Given the description of an element on the screen output the (x, y) to click on. 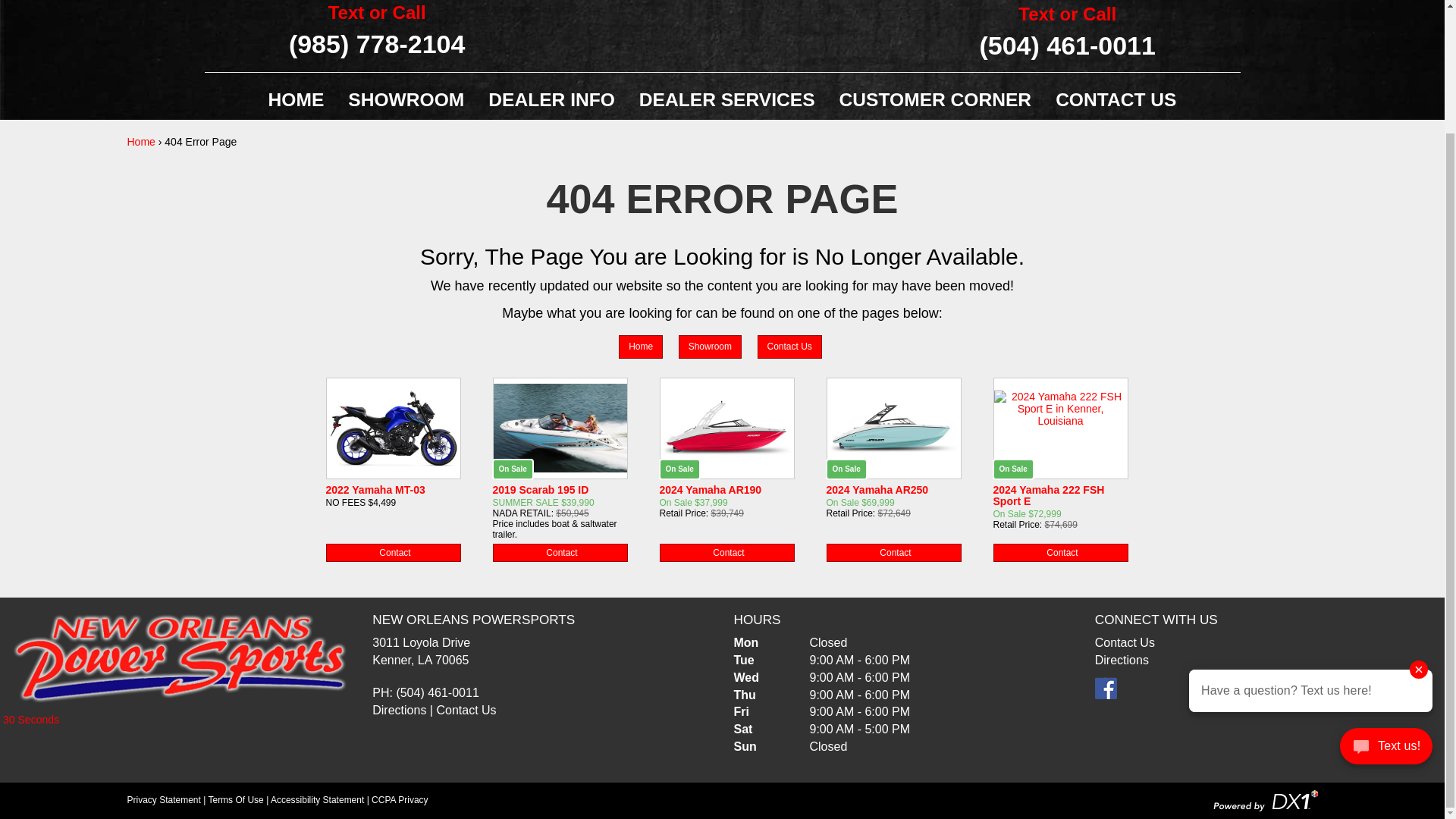
New Orleans Powersports (180, 657)
DEALER INFO (551, 99)
CUSTOMER CORNER (935, 99)
DEALER SERVICES (727, 99)
Powered by DX1 (1264, 799)
SHOWROOM (406, 99)
HOME (296, 99)
